Given the description of an element on the screen output the (x, y) to click on. 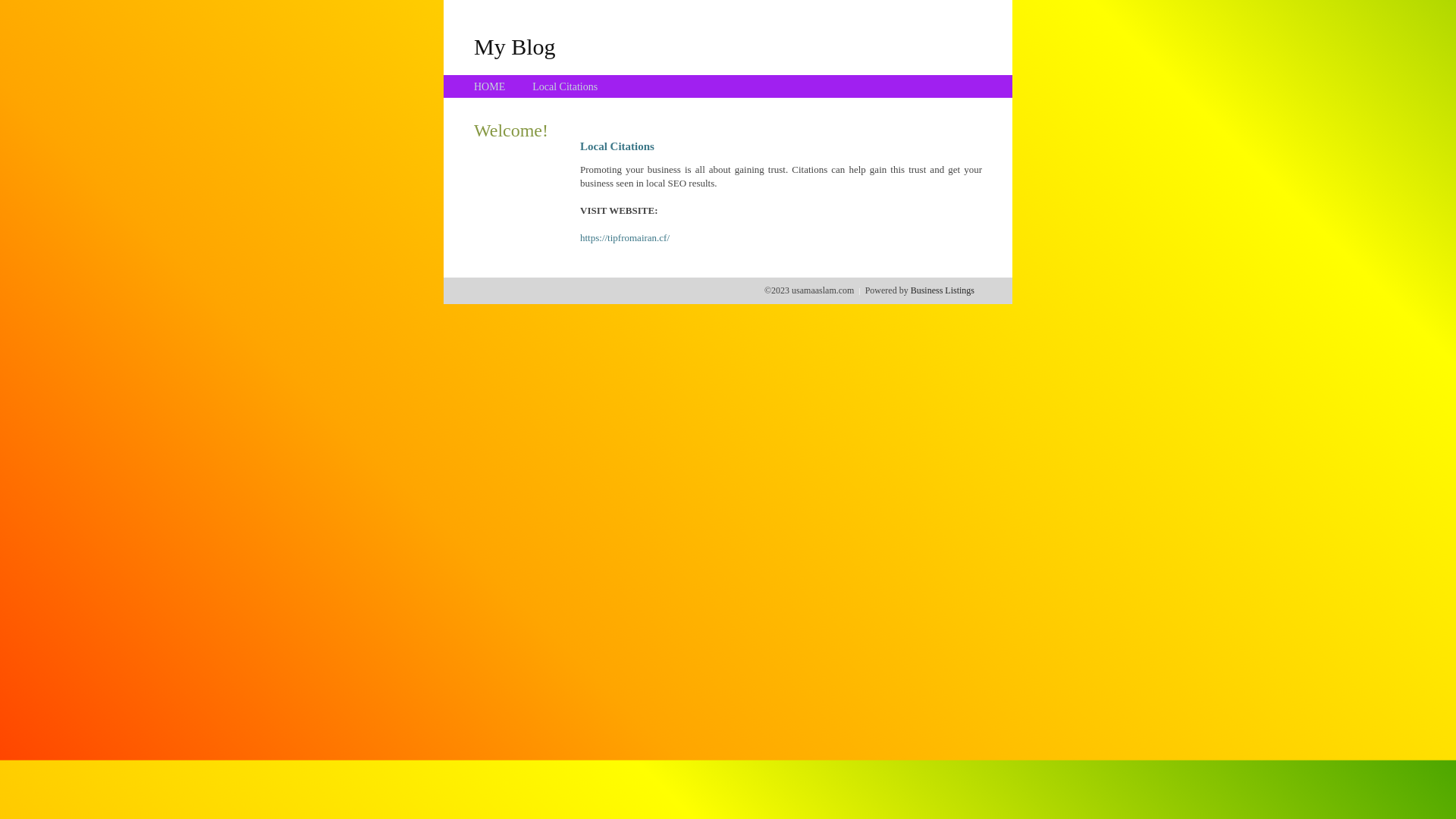
My Blog Element type: text (514, 46)
https://tipfromairan.cf/ Element type: text (624, 237)
Local Citations Element type: text (564, 86)
Business Listings Element type: text (942, 290)
HOME Element type: text (489, 86)
